Given the description of an element on the screen output the (x, y) to click on. 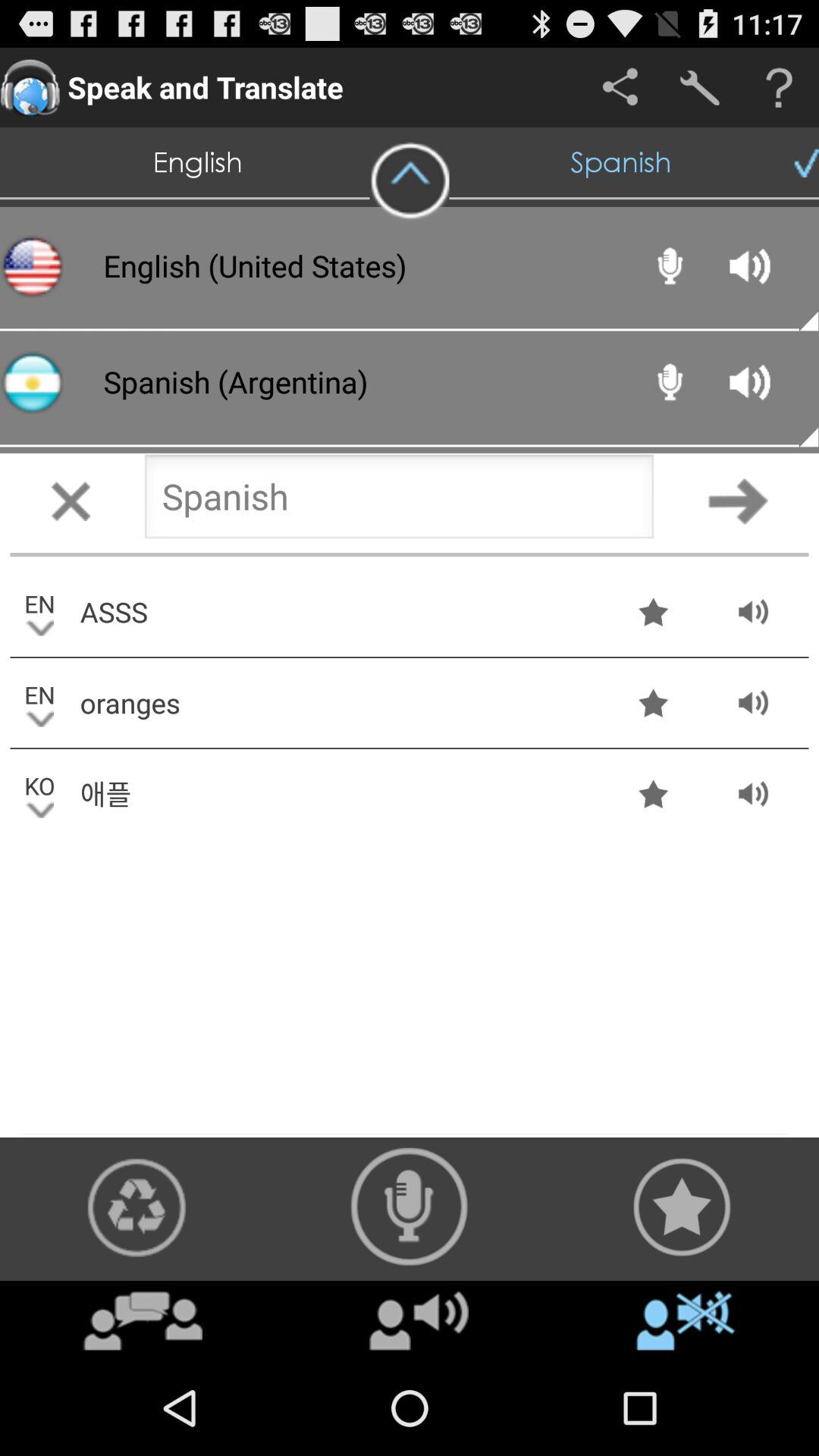
find more information (779, 87)
